Given the description of an element on the screen output the (x, y) to click on. 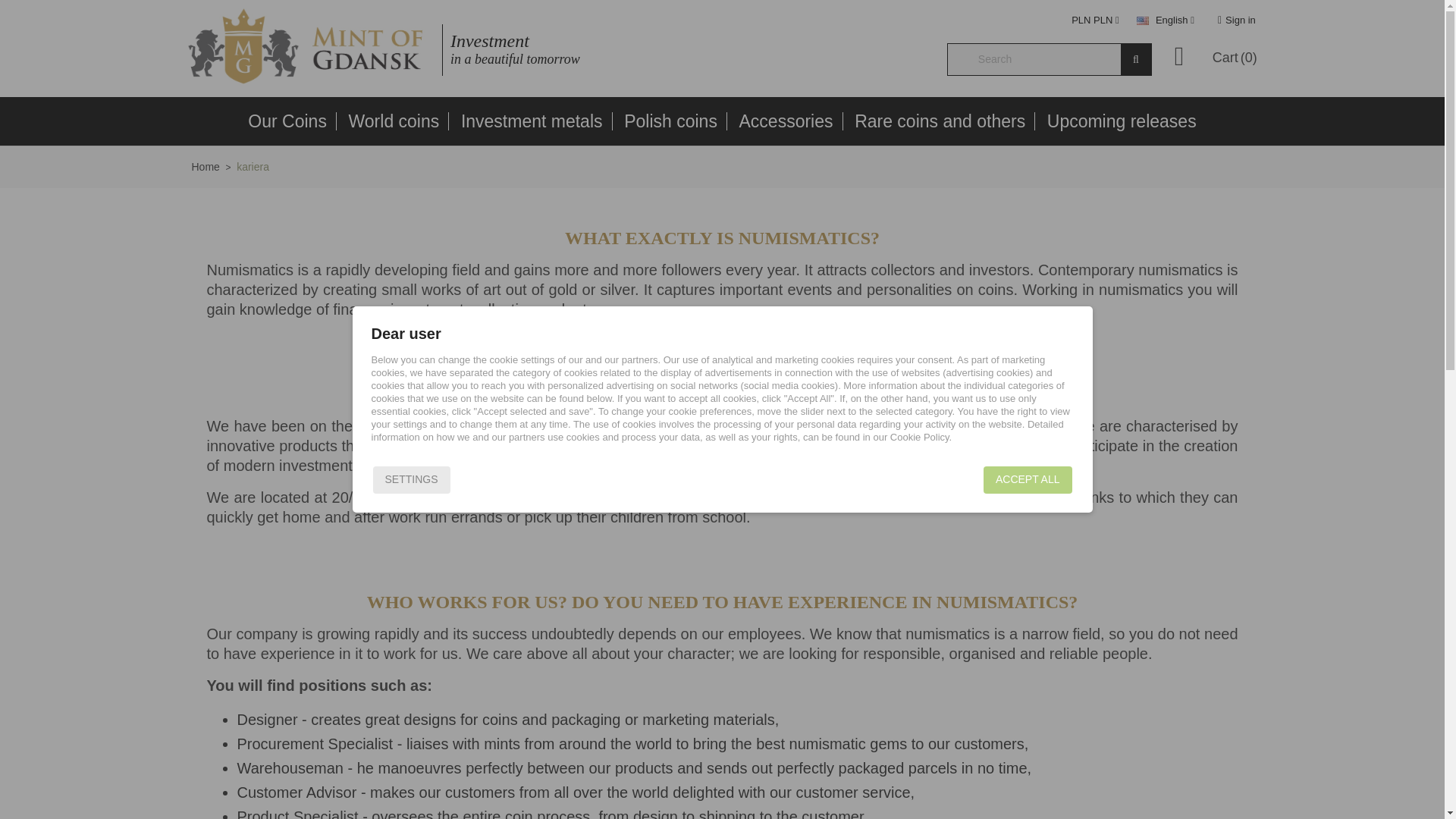
English (1168, 20)
kariera (252, 167)
Sign in (1236, 20)
Polish coins (670, 121)
Upcoming releases (1121, 121)
Our Coins (287, 121)
PLN PLN (1099, 20)
Rare coins and others (940, 121)
Accessories (786, 121)
World coins (394, 121)
Investment metals (531, 121)
Home (204, 167)
